Given the description of an element on the screen output the (x, y) to click on. 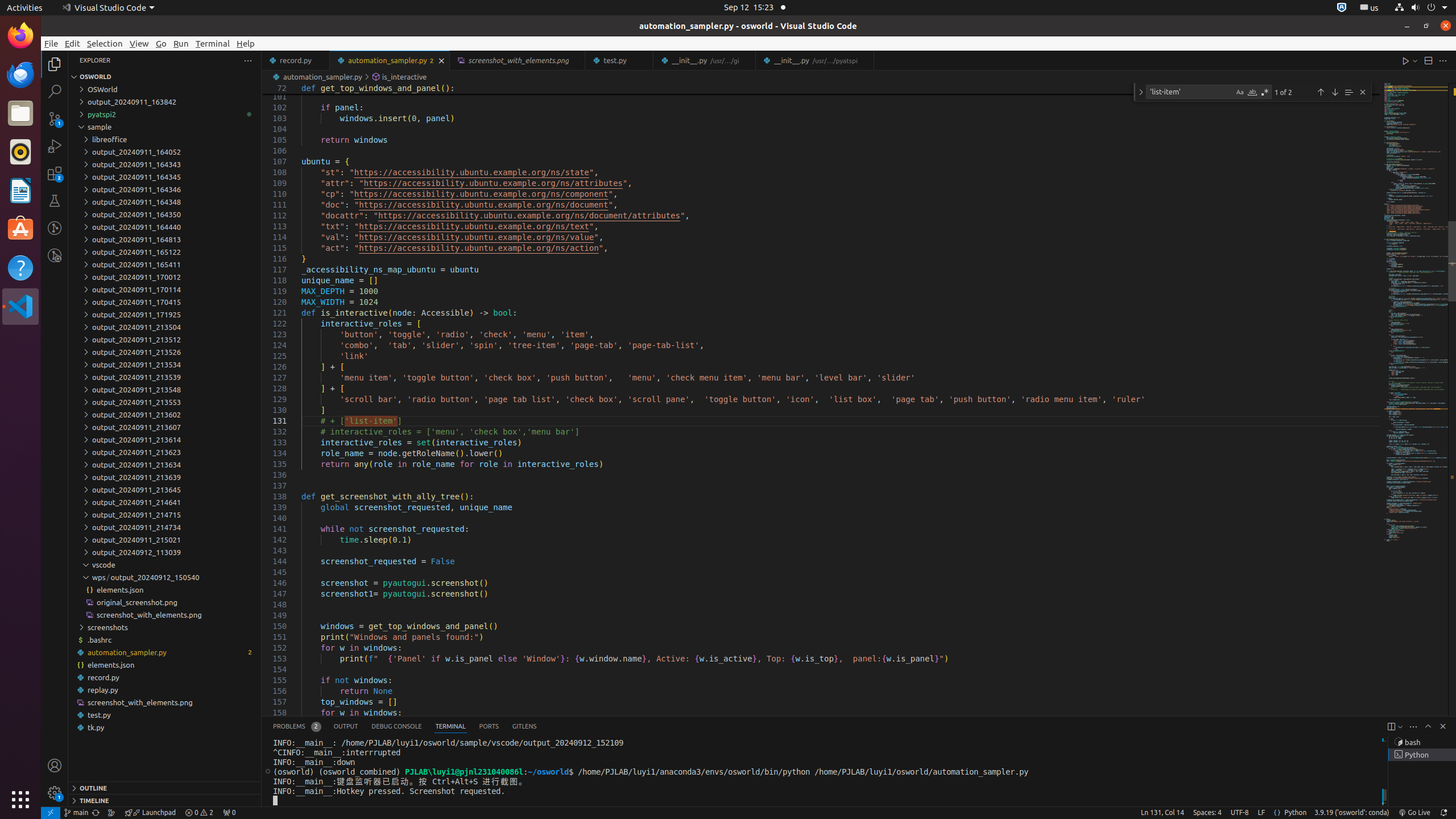
output_20240912_113039 Element type: tree-item (164, 552)
output_20240912_150540 Element type: tree-item (164, 577)
output_20240911_170012 Element type: tree-item (164, 276)
